Given the description of an element on the screen output the (x, y) to click on. 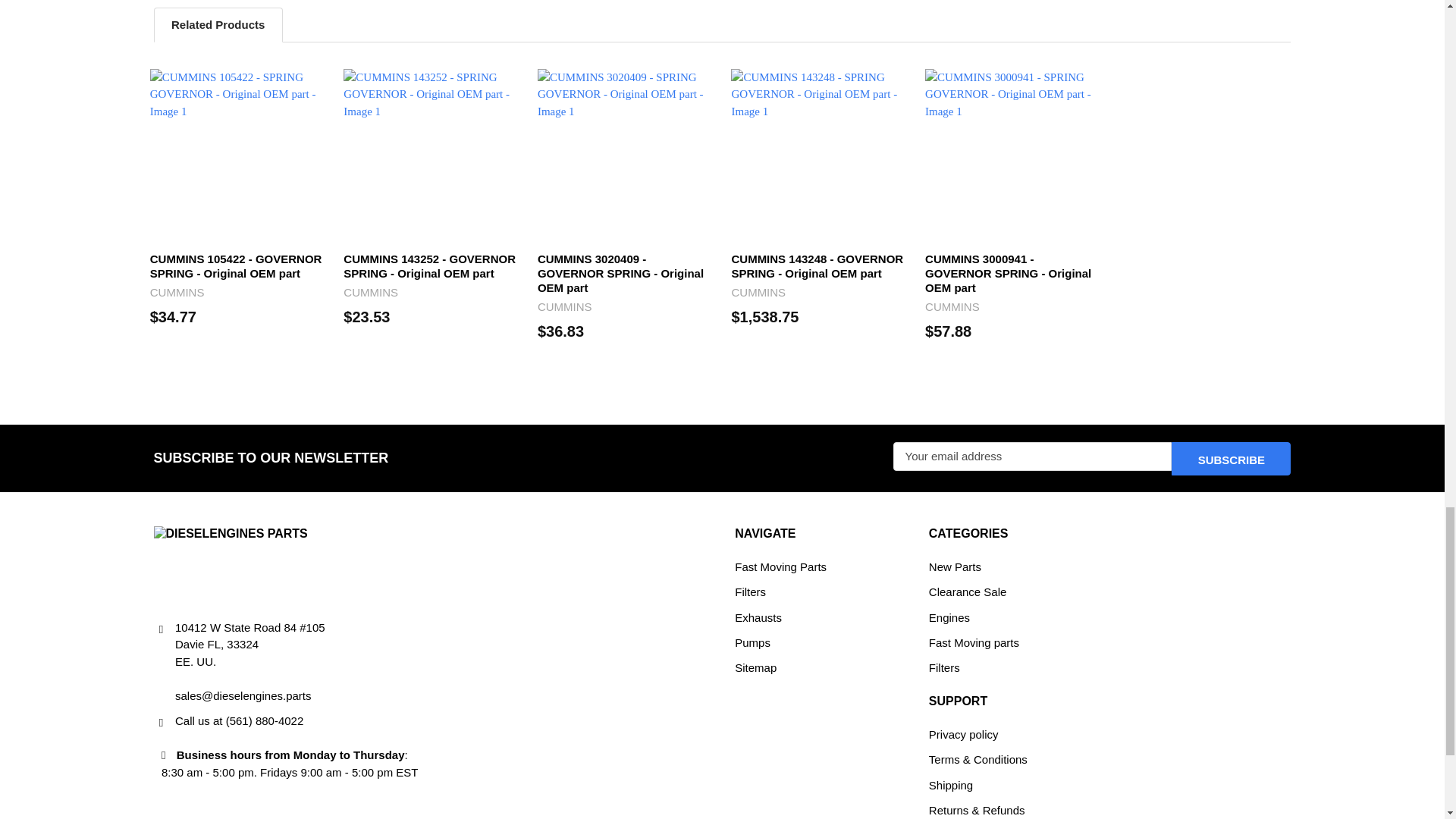
DIESELENGINES PARTS (229, 563)
Subscribe (1231, 458)
